Given the description of an element on the screen output the (x, y) to click on. 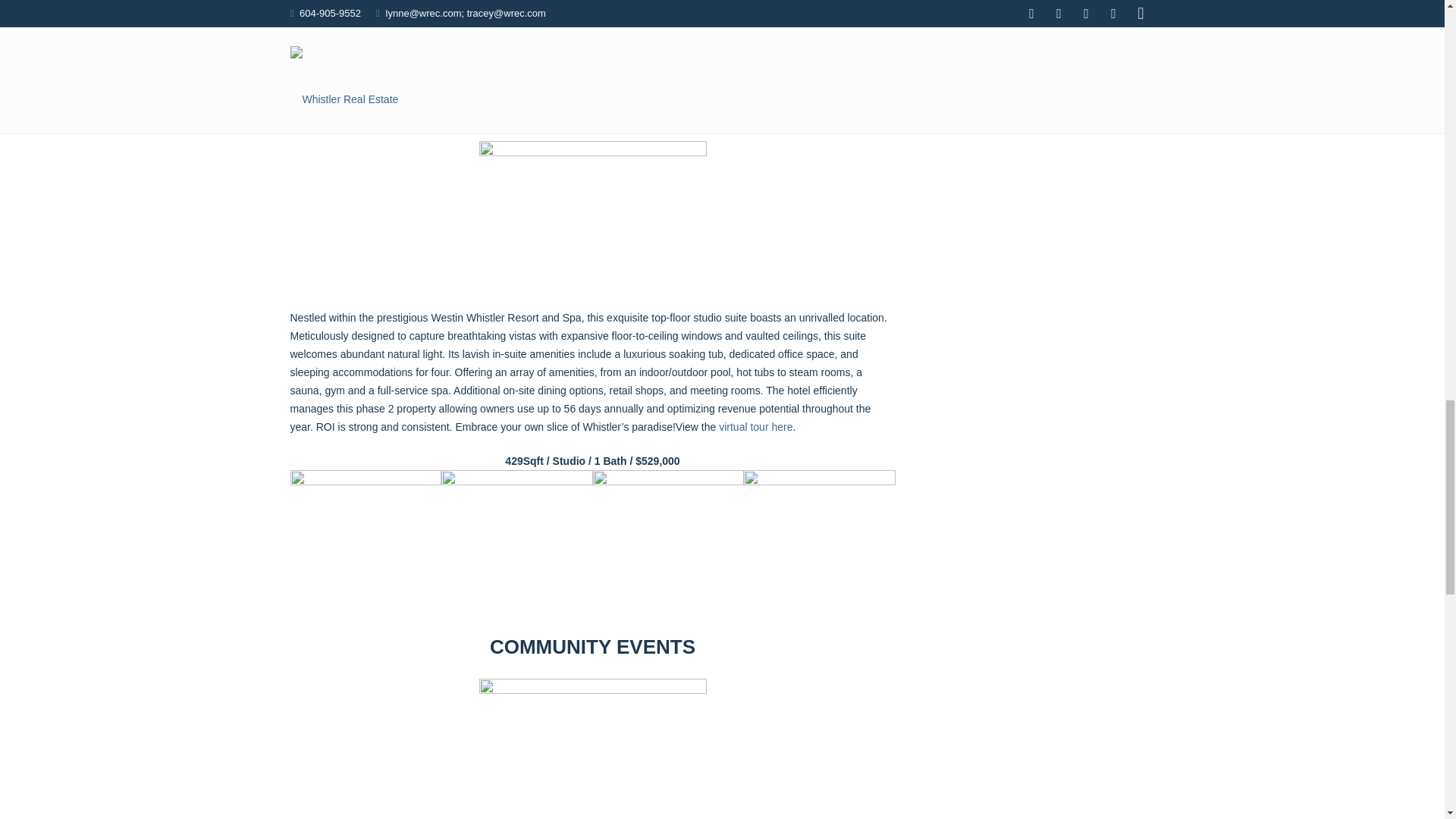
virtual tour here (755, 426)
10-1015 Westin 09 (668, 545)
18-Westin-05 (819, 545)
03-1015 Westin 02 (516, 545)
07-1015 Westin 06 (365, 545)
